Given the description of an element on the screen output the (x, y) to click on. 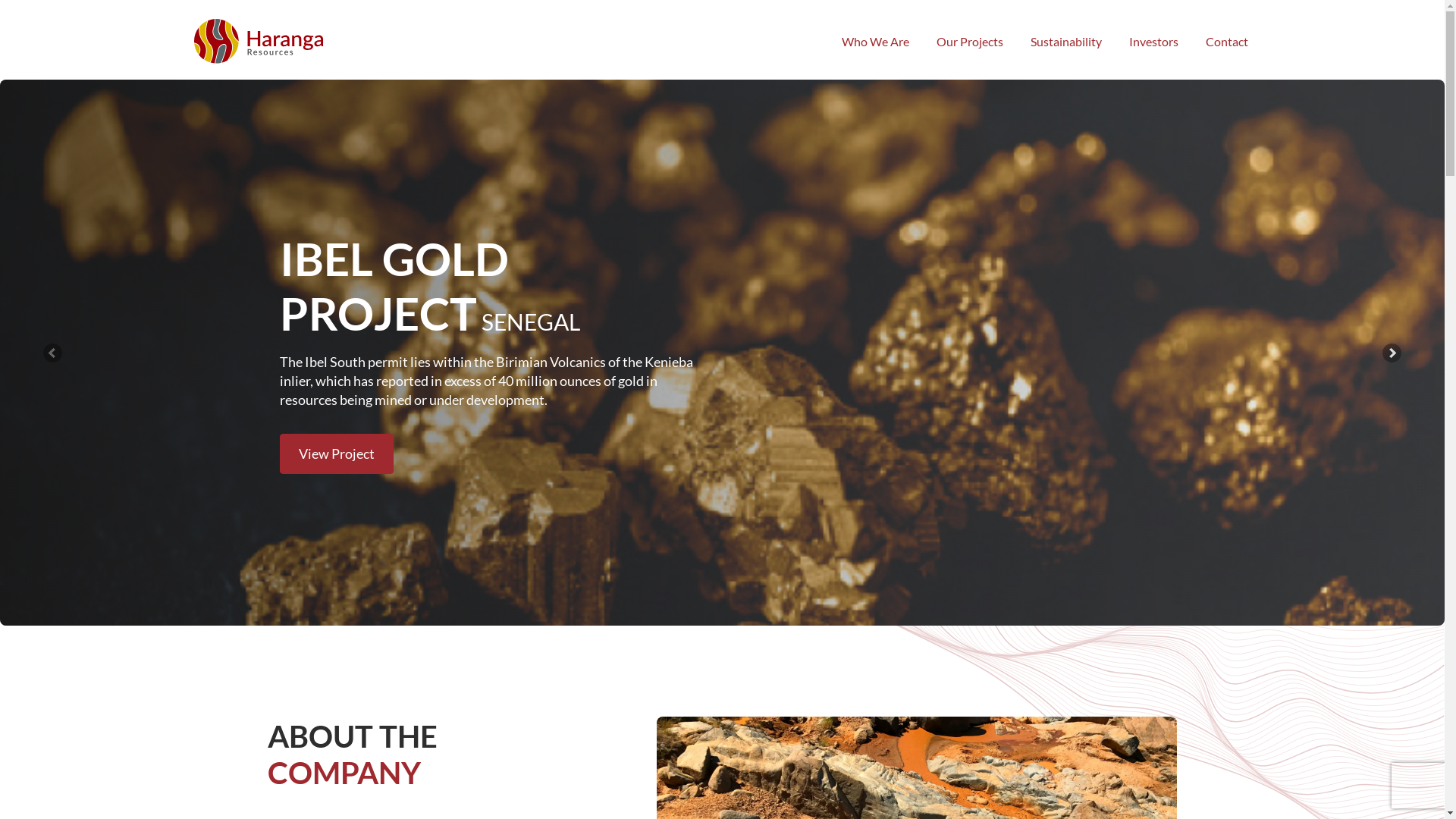
Sustainability Element type: text (1065, 41)
IBEL GOLD
PROJECT SENEGAL Element type: text (429, 297)
Contact Element type: text (1226, 41)
SARAYA URANIUM
PROJECT SENEGAL Element type: text (480, 294)
Who We Are Element type: text (875, 41)
Investors Element type: text (1153, 41)
Our Projects Element type: text (969, 41)
View Project Element type: text (335, 453)
View Project Element type: text (335, 456)
